Given the description of an element on the screen output the (x, y) to click on. 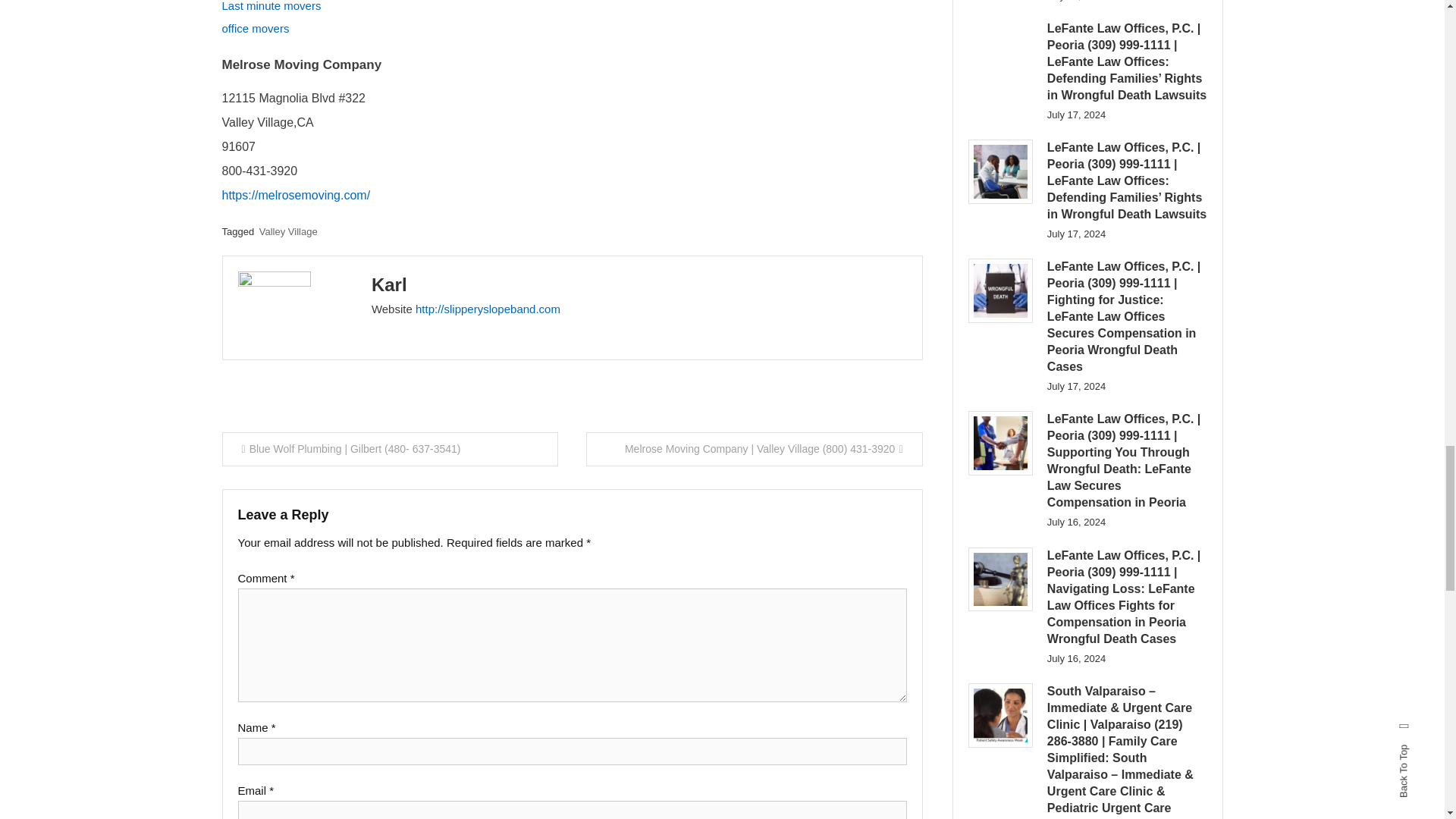
Posts by Karl (389, 284)
